Given the description of an element on the screen output the (x, y) to click on. 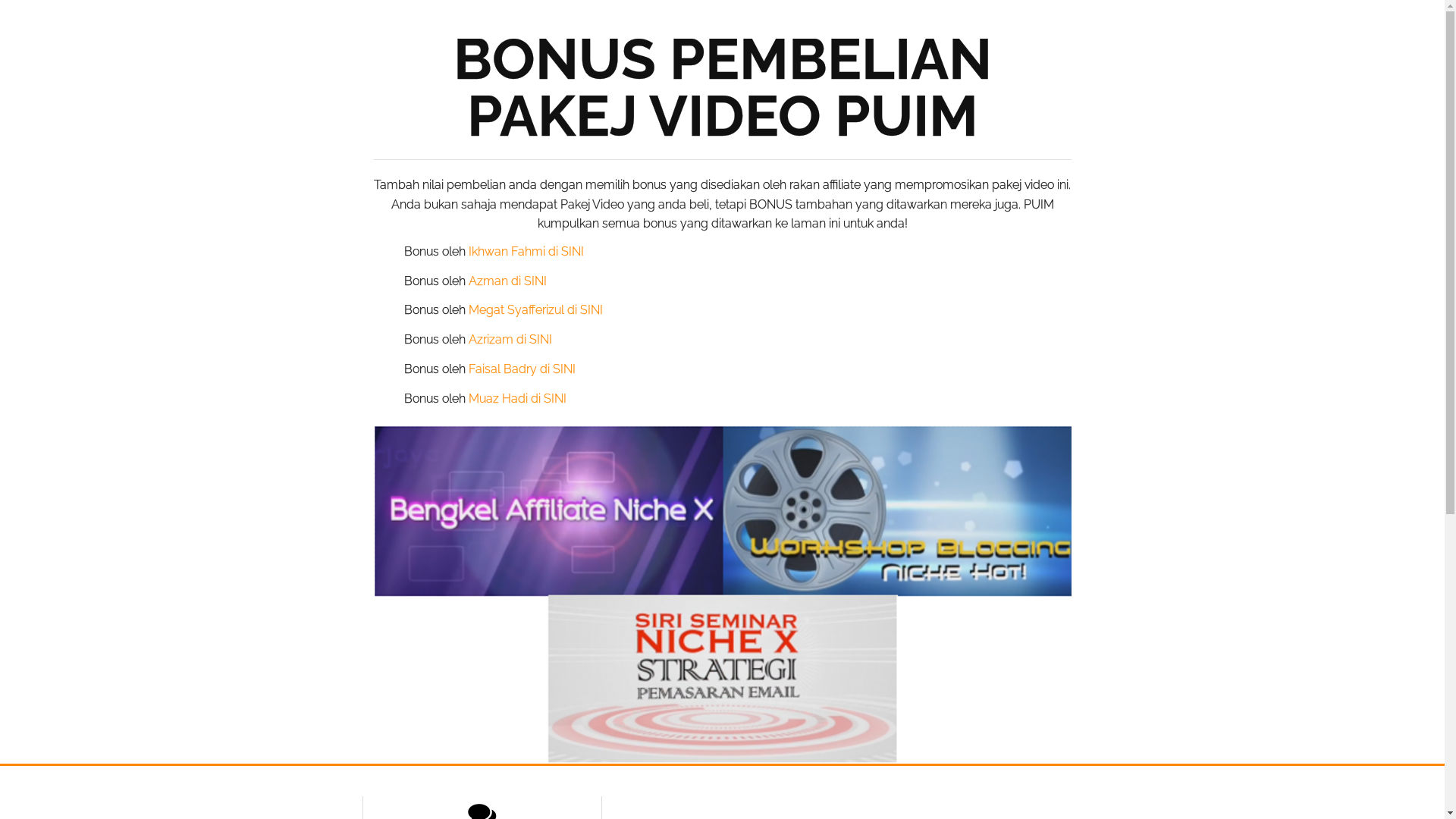
Azman di SINI Element type: text (507, 280)
Ikhwan Fahmi di SINI Element type: text (525, 251)
Azrizam di SINI Element type: text (510, 339)
Megat Syafferizul di SINI Element type: text (535, 309)
Faisal Badry di SINI Element type: text (521, 368)
Muaz Hadi di SINI Element type: text (517, 398)
